Given the description of an element on the screen output the (x, y) to click on. 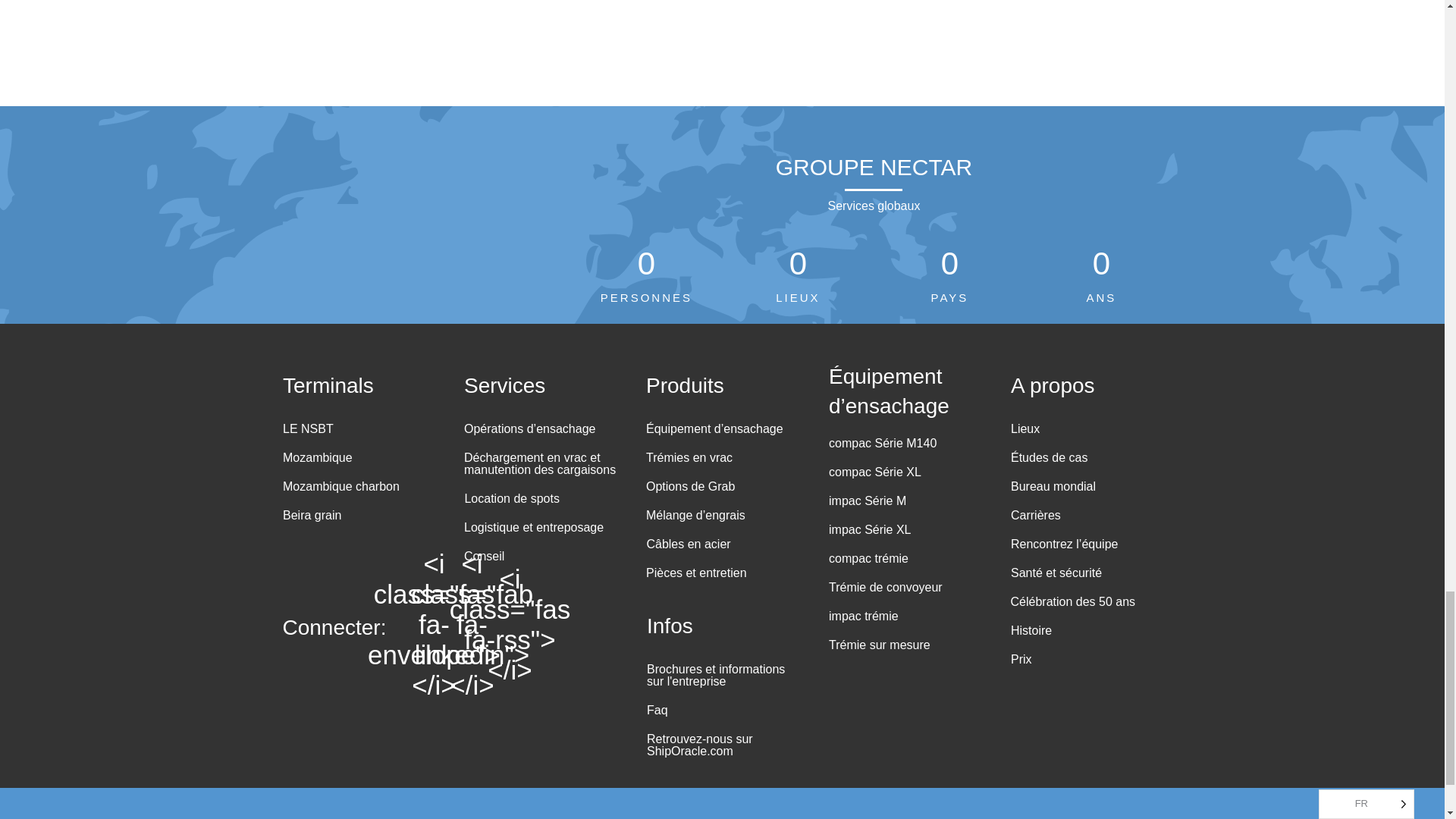
email (433, 624)
Linkedin (471, 624)
RSS (509, 624)
Beira grain (308, 518)
Mozambique (314, 460)
LE NSBT (304, 432)
Terminals (327, 383)
Location de spots (508, 501)
Mozambique charbon (337, 489)
Services (504, 383)
